Given the description of an element on the screen output the (x, y) to click on. 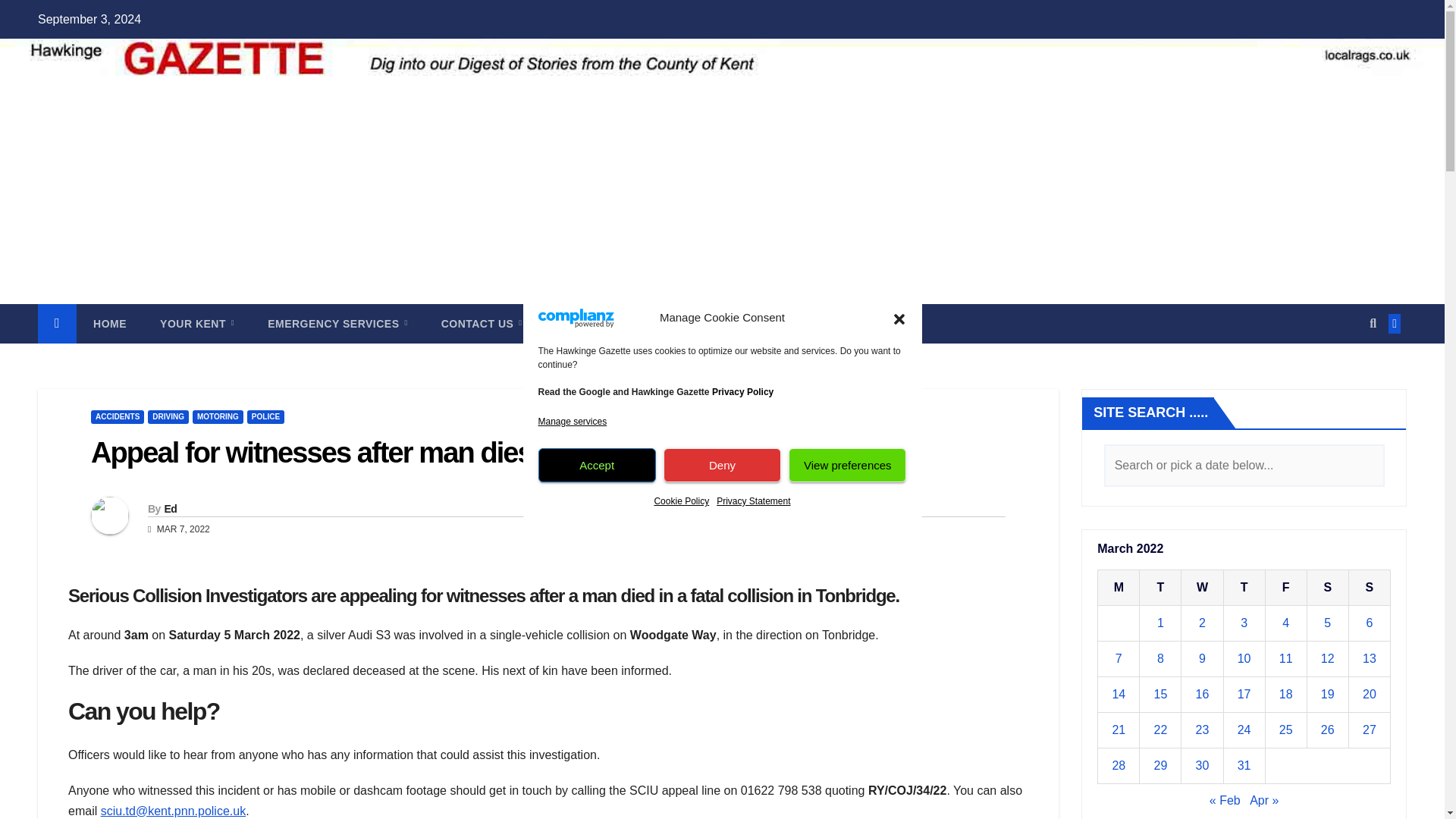
HOME (109, 323)
Cookie Policy (681, 500)
Accept (597, 464)
Deny (721, 464)
Privacy Policy (742, 391)
HOME (109, 323)
View preferences (847, 464)
Privacy Statement (753, 500)
Manage services (572, 421)
YOUR KENT (196, 323)
